Given the description of an element on the screen output the (x, y) to click on. 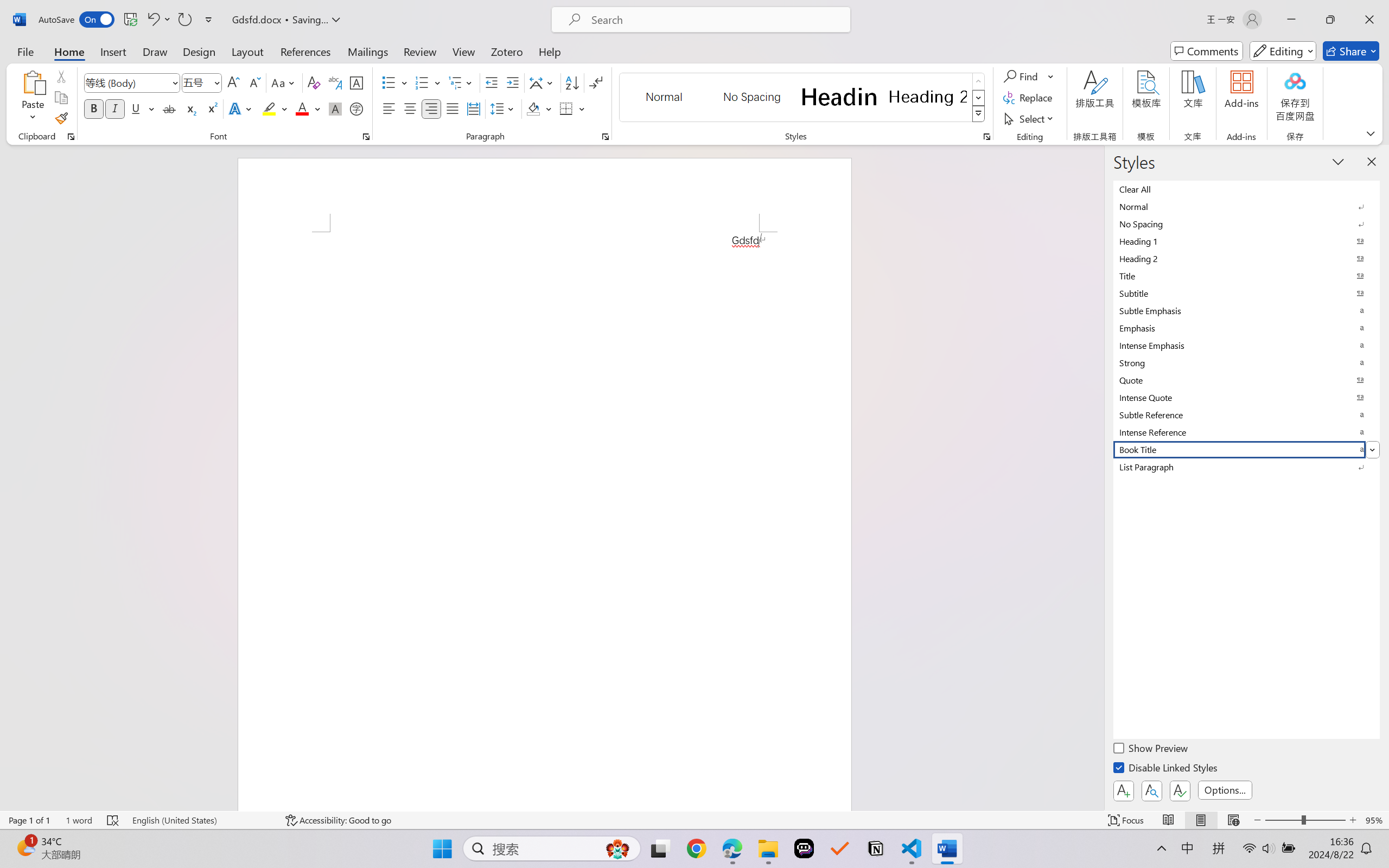
Undo Style (152, 19)
Show Preview (1151, 749)
Asian Layout (542, 82)
Styles... (986, 136)
Microsoft search (715, 19)
Show/Hide Editing Marks (595, 82)
Intense Reference (1246, 431)
